Given the description of an element on the screen output the (x, y) to click on. 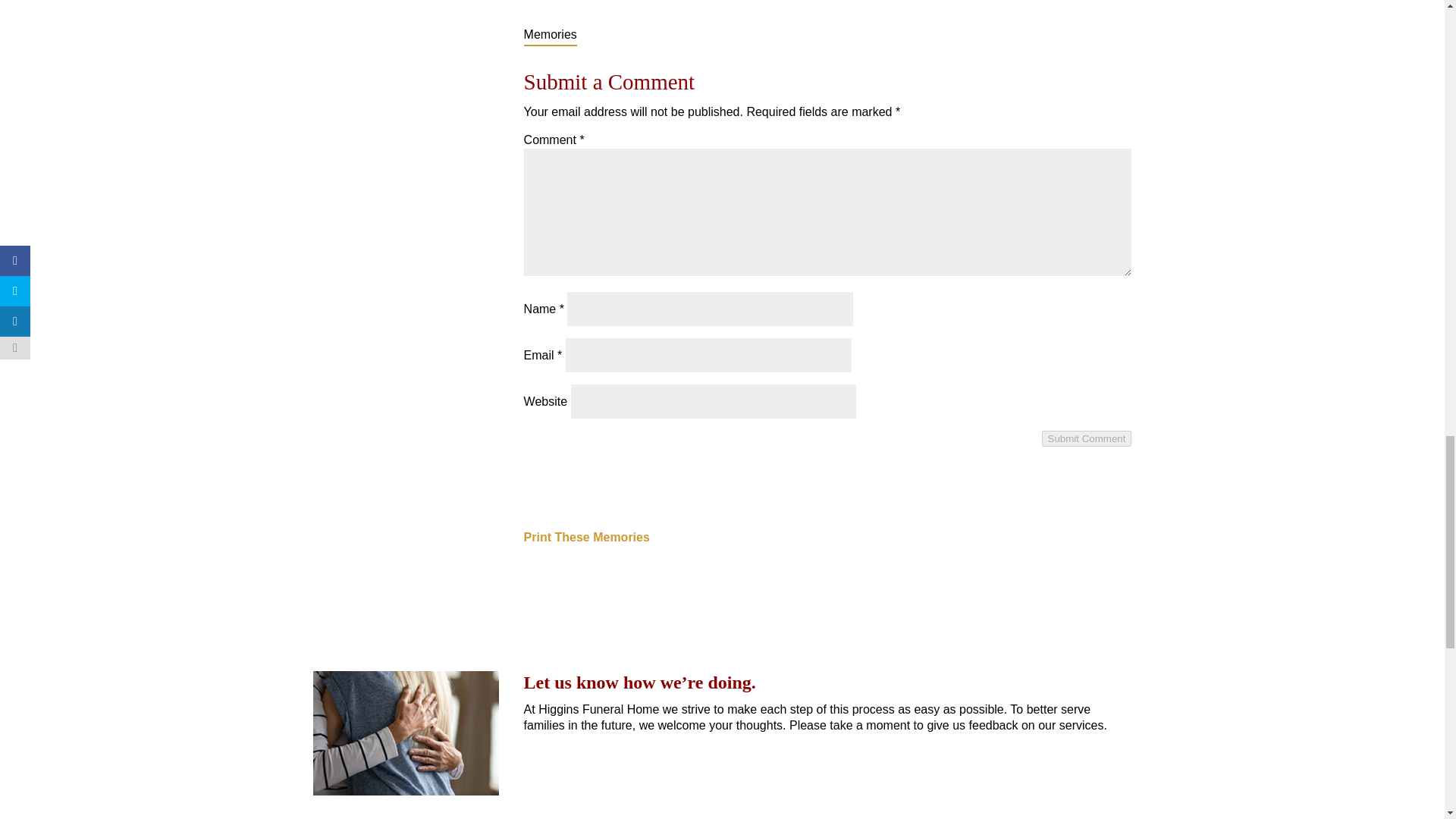
Print These Memories (586, 536)
people-hugging (406, 732)
Print These Memories (586, 536)
Leave a Review (594, 764)
Submit Comment (1087, 438)
